Given the description of an element on the screen output the (x, y) to click on. 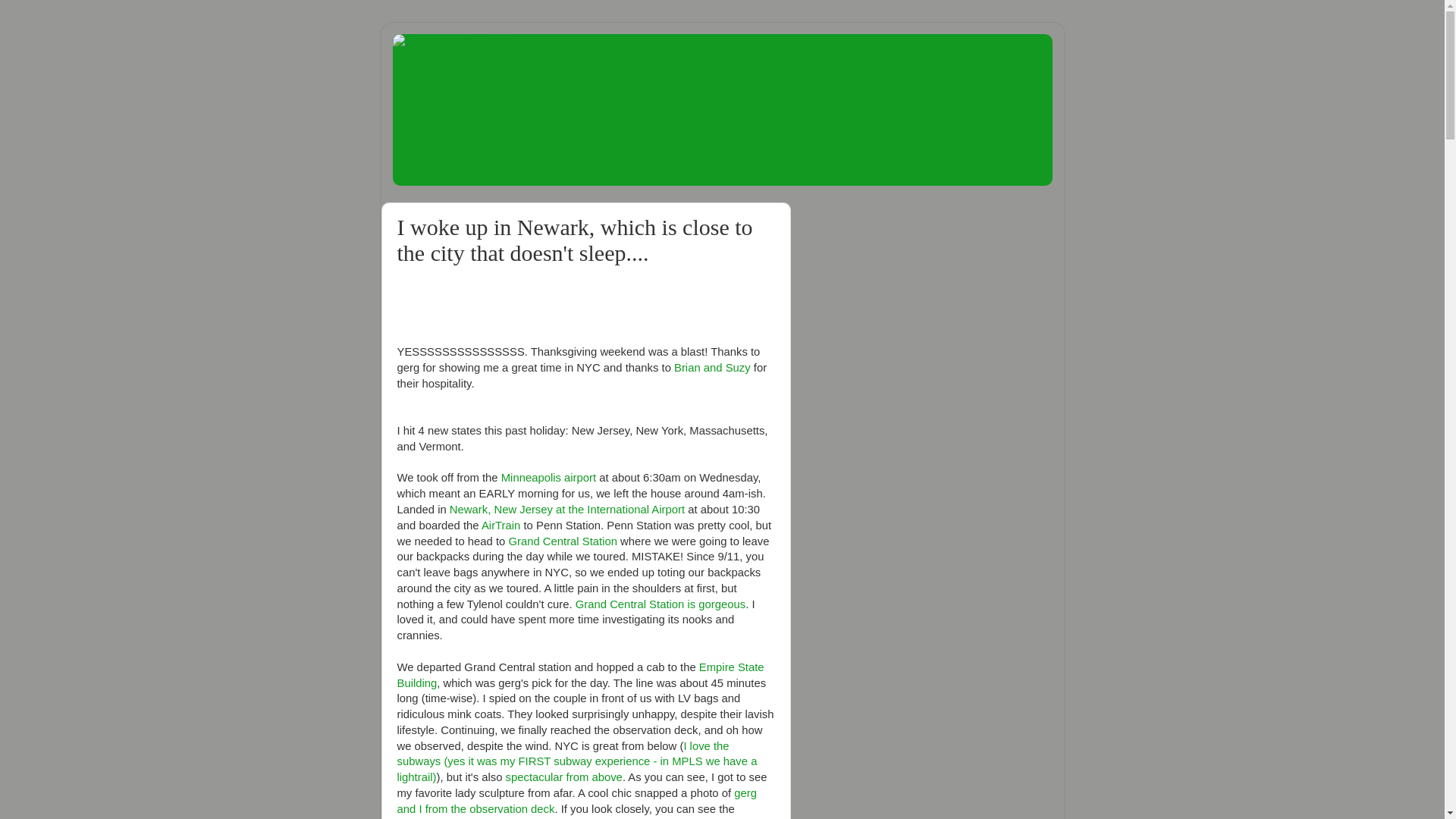
gerg and I from the observation deck (577, 800)
Empire State Building (580, 674)
Minneapolis airport (547, 477)
Grand Central Station (562, 541)
Brian and Suzy (712, 367)
Grand Central Station is gorgeous (660, 604)
Newark, New Jersey at the International Airport (566, 509)
AirTrain (500, 525)
spectacular from above (564, 776)
